Given the description of an element on the screen output the (x, y) to click on. 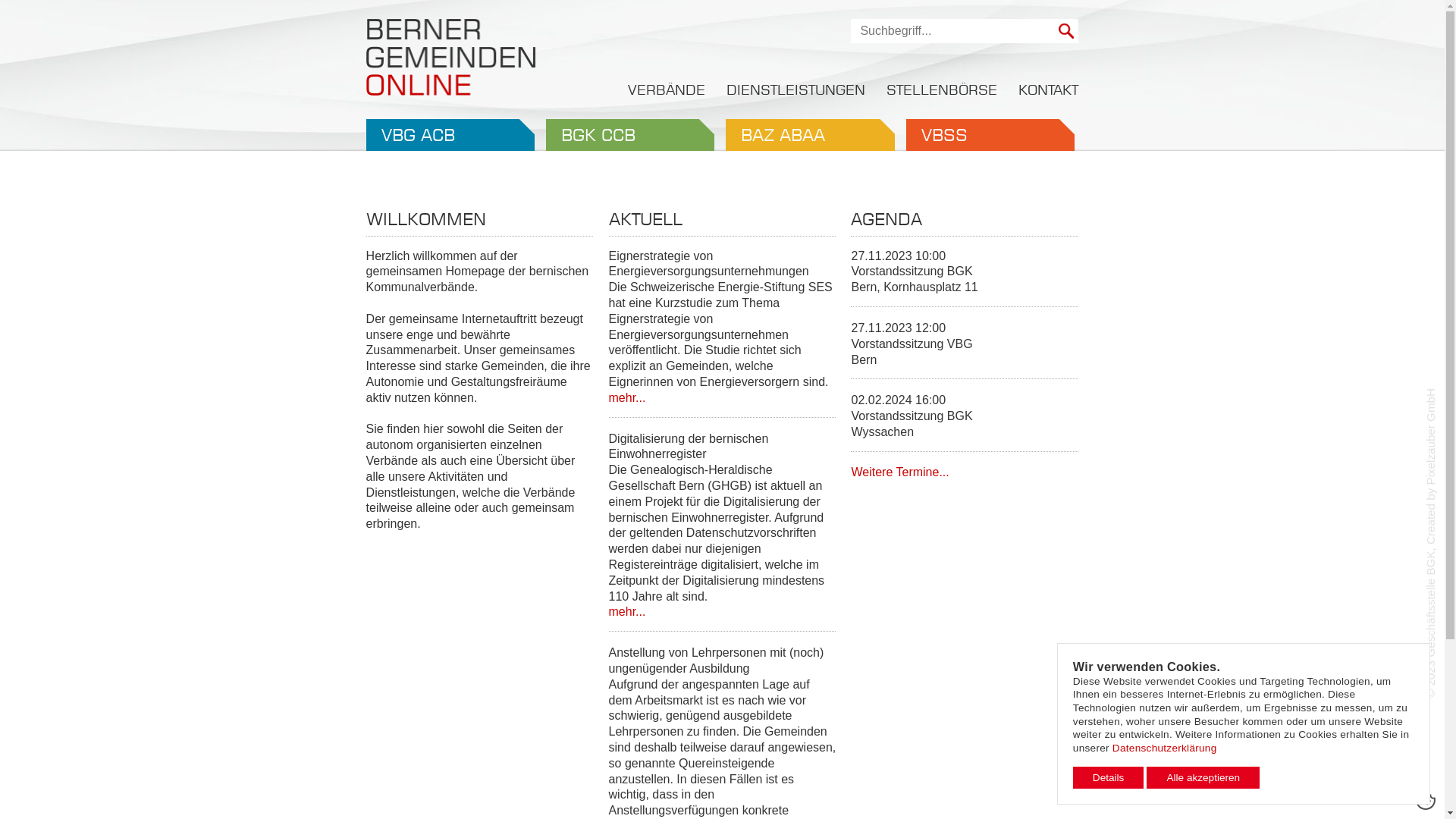
27.11.2023 12:00
Vorstandssitzung VBG
Bern Element type: text (964, 349)
KONTAKT Element type: text (1048, 89)
BAZ ABAA Element type: text (809, 134)
BGK CCB Element type: text (630, 134)
02.02.2024 16:00
Vorstandssitzung BGK
Wyssachen Element type: text (964, 421)
27.11.2023 10:00
Vorstandssitzung BGK
Bern, Kornhausplatz 11 Element type: text (964, 277)
Alle akzeptieren Element type: text (1202, 777)
  Element type: text (1066, 30)
VBG ACB Element type: text (450, 134)
mehr... Element type: text (627, 611)
mehr... Element type: text (627, 397)
DIENSTLEISTUNGEN Element type: text (795, 89)
Weitere Termine... Element type: text (899, 471)
VBSS Element type: text (990, 134)
Details Element type: text (1108, 777)
